Given the description of an element on the screen output the (x, y) to click on. 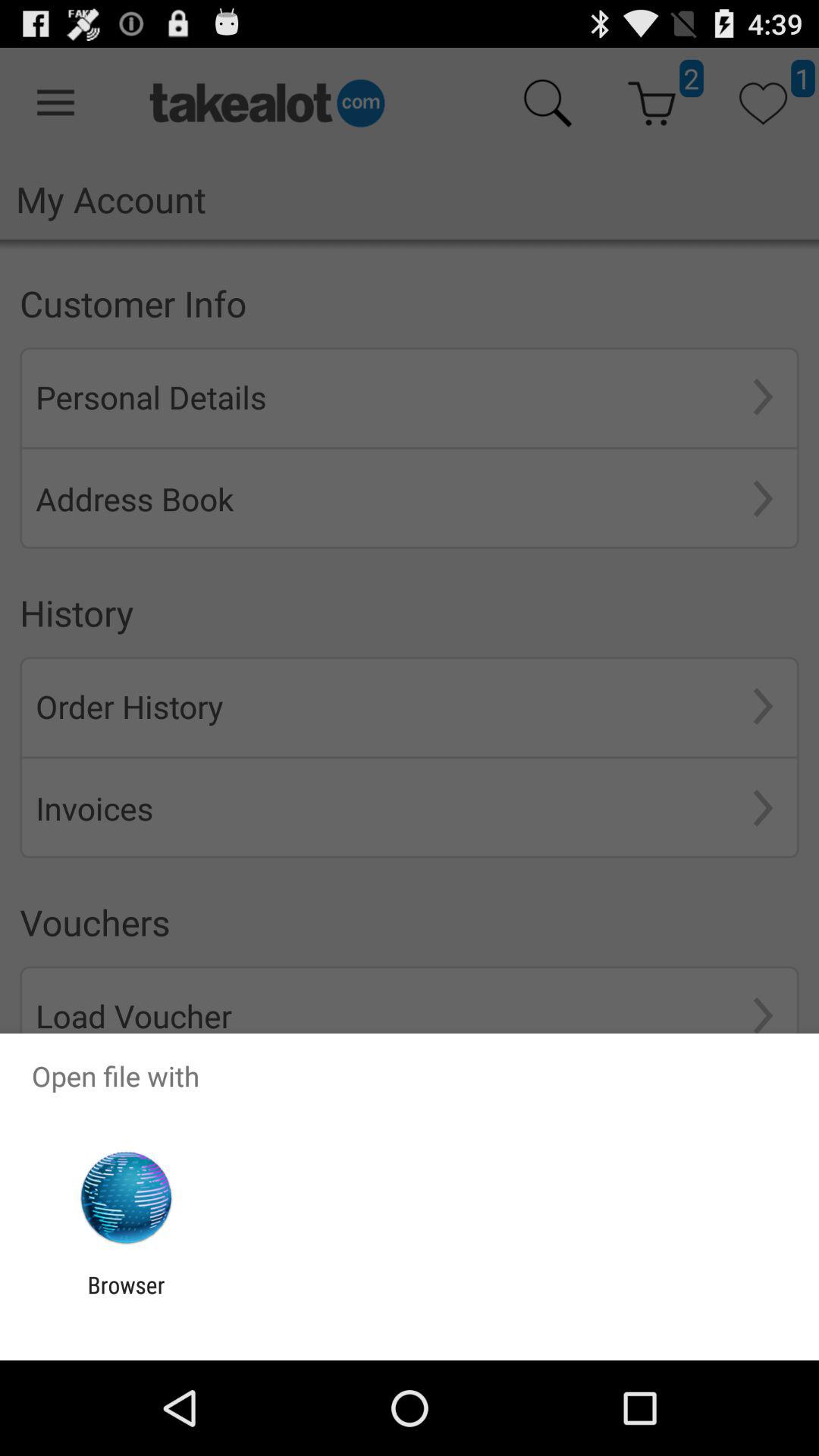
open browser (125, 1298)
